Given the description of an element on the screen output the (x, y) to click on. 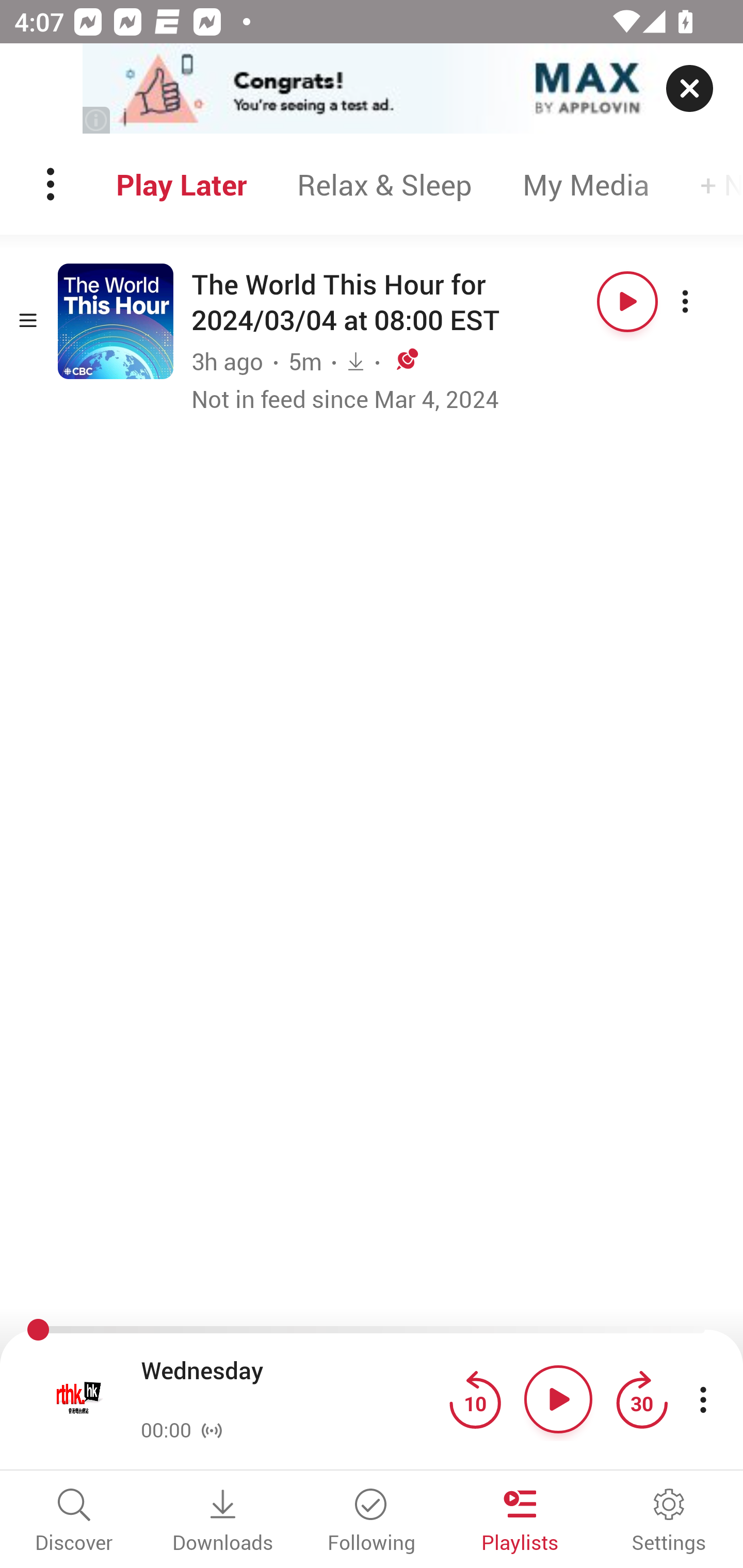
app-monetization (371, 88)
(i) (96, 119)
Menu (52, 184)
Play Later (180, 184)
Relax & Sleep (384, 184)
My Media (585, 184)
New playlist + New playlist (708, 184)
Play button (627, 301)
More options (703, 301)
Open series The World This Hour (115, 321)
Open fullscreen player (79, 1399)
More player controls (703, 1399)
Wednesday (290, 1385)
Play button (558, 1398)
Jump back (475, 1399)
Jump forward (641, 1399)
Discover (74, 1521)
Downloads (222, 1521)
Following (371, 1521)
Playlists (519, 1521)
Settings (668, 1521)
